Given the description of an element on the screen output the (x, y) to click on. 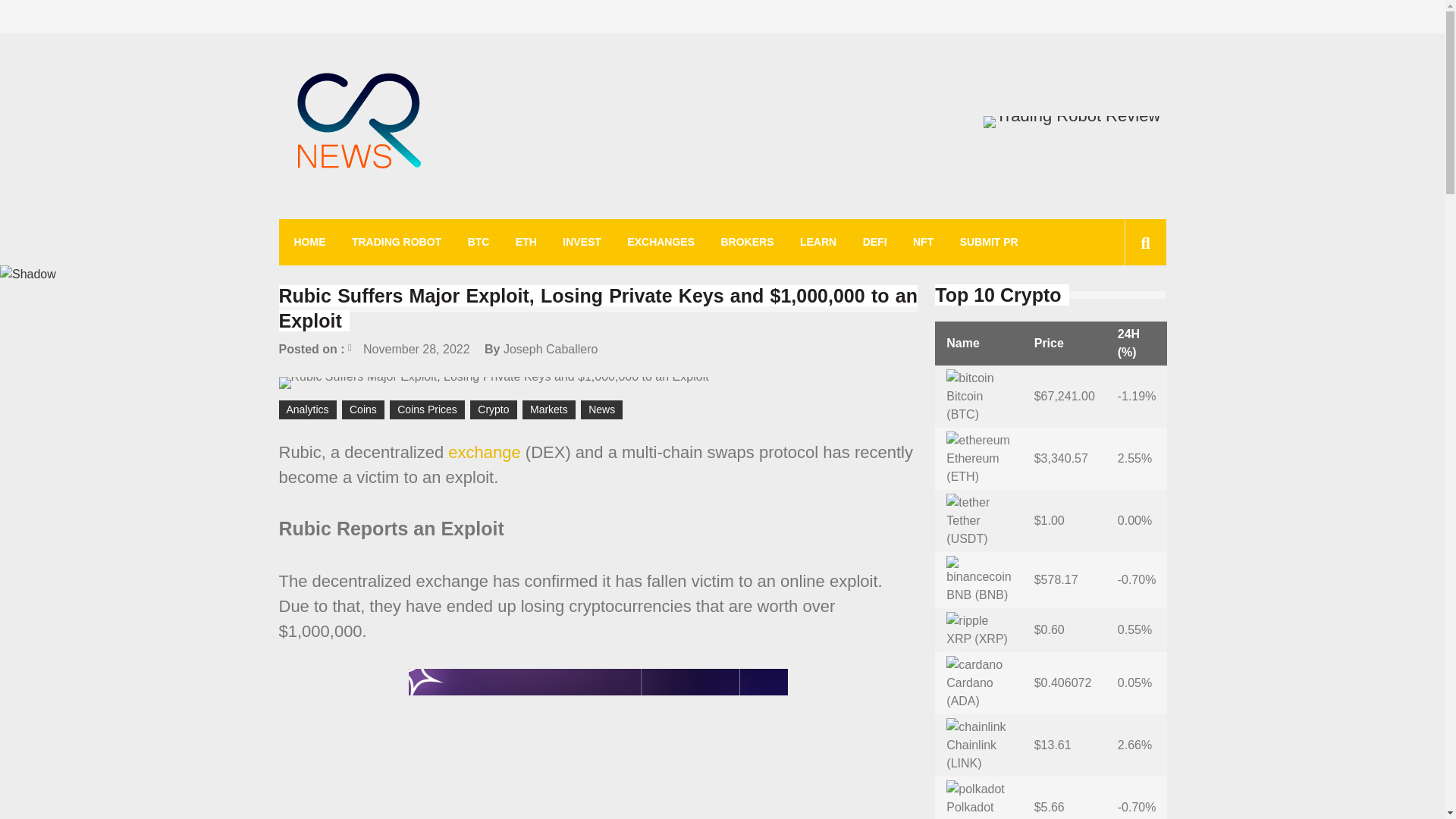
Coins (363, 409)
Markets (548, 409)
Search (1120, 311)
Posts by Joseph Caballero (550, 349)
exchange (483, 452)
TRADING ROBOT (396, 242)
SUBMIT PR (988, 242)
EXCHANGES (660, 242)
Trading Robot Review (1072, 121)
Crypto (493, 409)
cryptocy-2-1 - CryptocyNews.com (359, 123)
Analytics (307, 409)
BROKERS (746, 242)
Joseph Caballero (550, 349)
November 28, 2022 (408, 349)
